Given the description of an element on the screen output the (x, y) to click on. 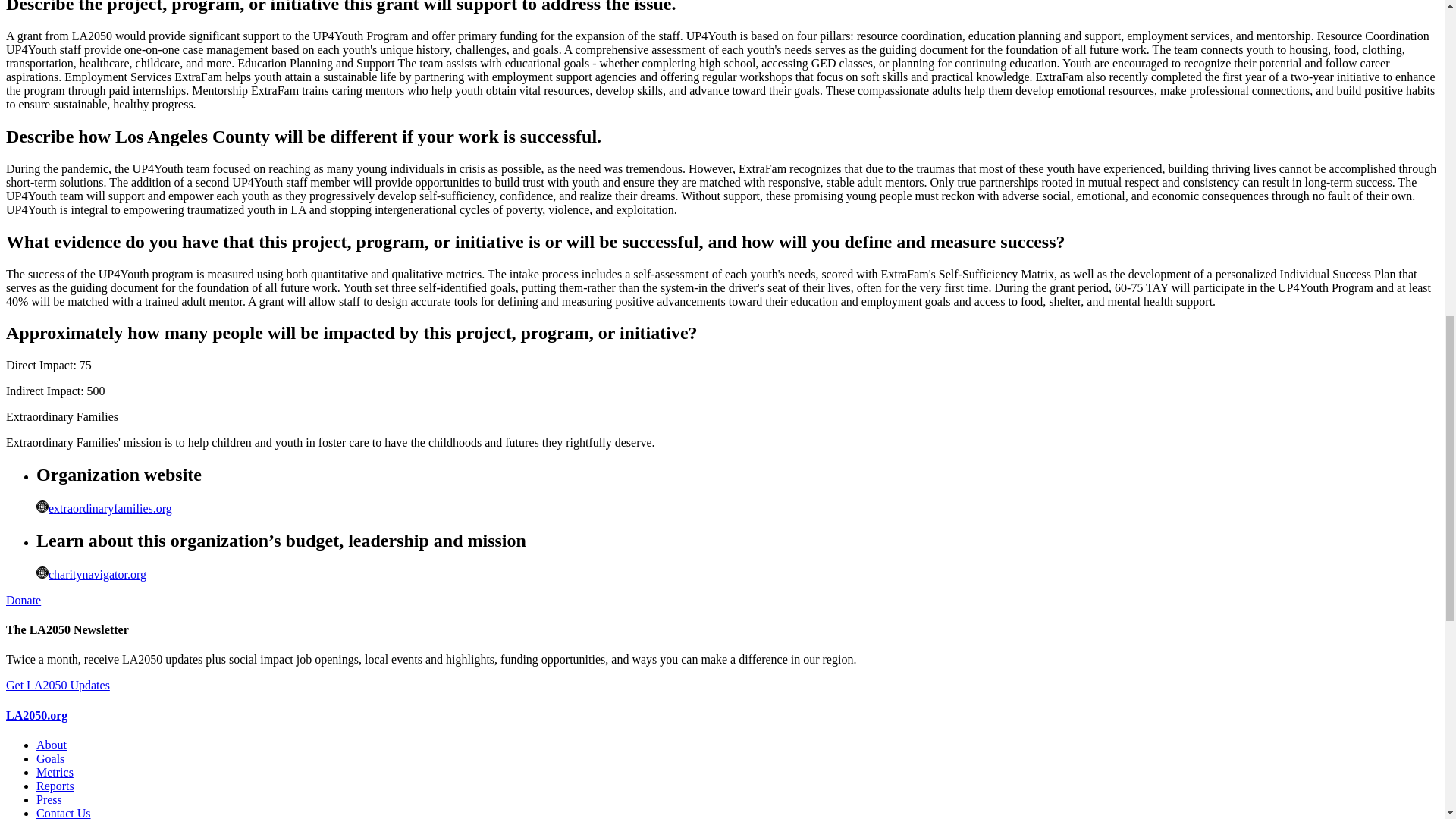
Donate (22, 599)
Get LA2050 Updates (57, 684)
Contact Us (63, 812)
Goals (50, 758)
About (51, 744)
extraordinaryfamilies.org (103, 508)
charitynavigator.org (91, 574)
Metrics (55, 771)
Reports (55, 785)
Press (49, 799)
